Given the description of an element on the screen output the (x, y) to click on. 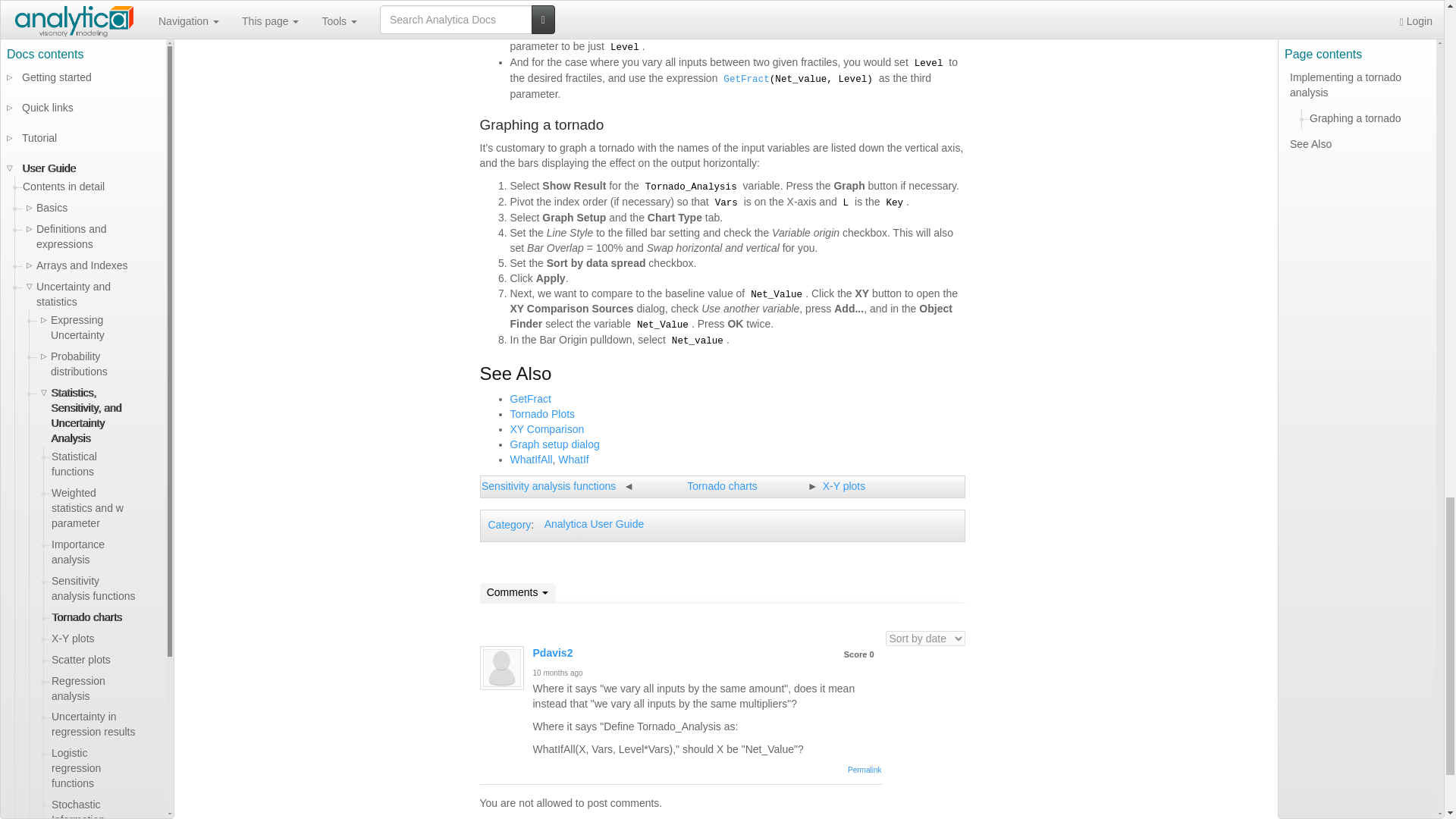
GetFract (745, 79)
WhatIf (572, 459)
GetFract (529, 398)
Graph setup dialog (553, 444)
WhatIfAll (530, 459)
XY Comparison (546, 428)
Tornado Plots (542, 413)
